Given the description of an element on the screen output the (x, y) to click on. 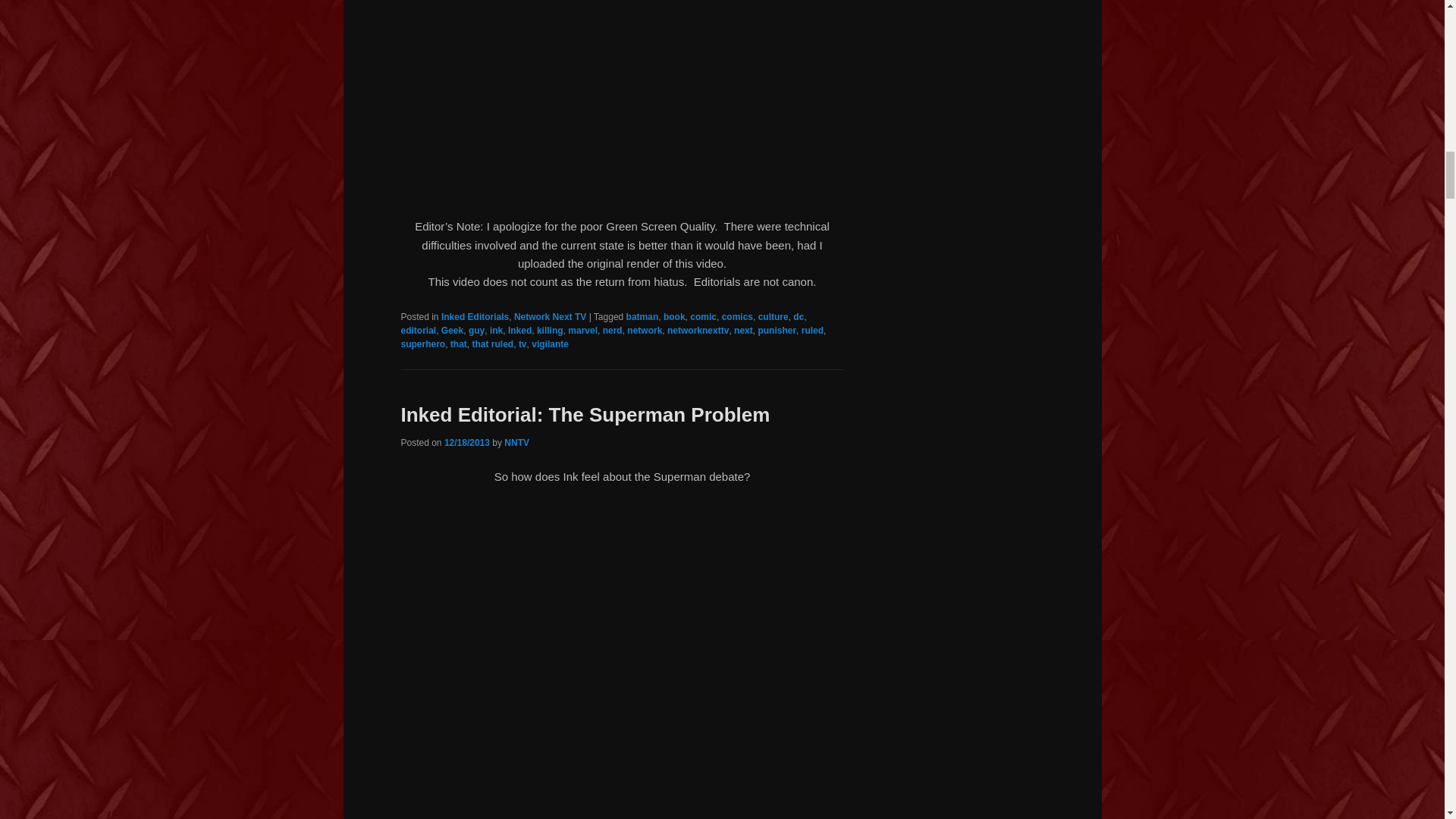
View all posts by NNTV (516, 442)
19:21 (466, 442)
